Given the description of an element on the screen output the (x, y) to click on. 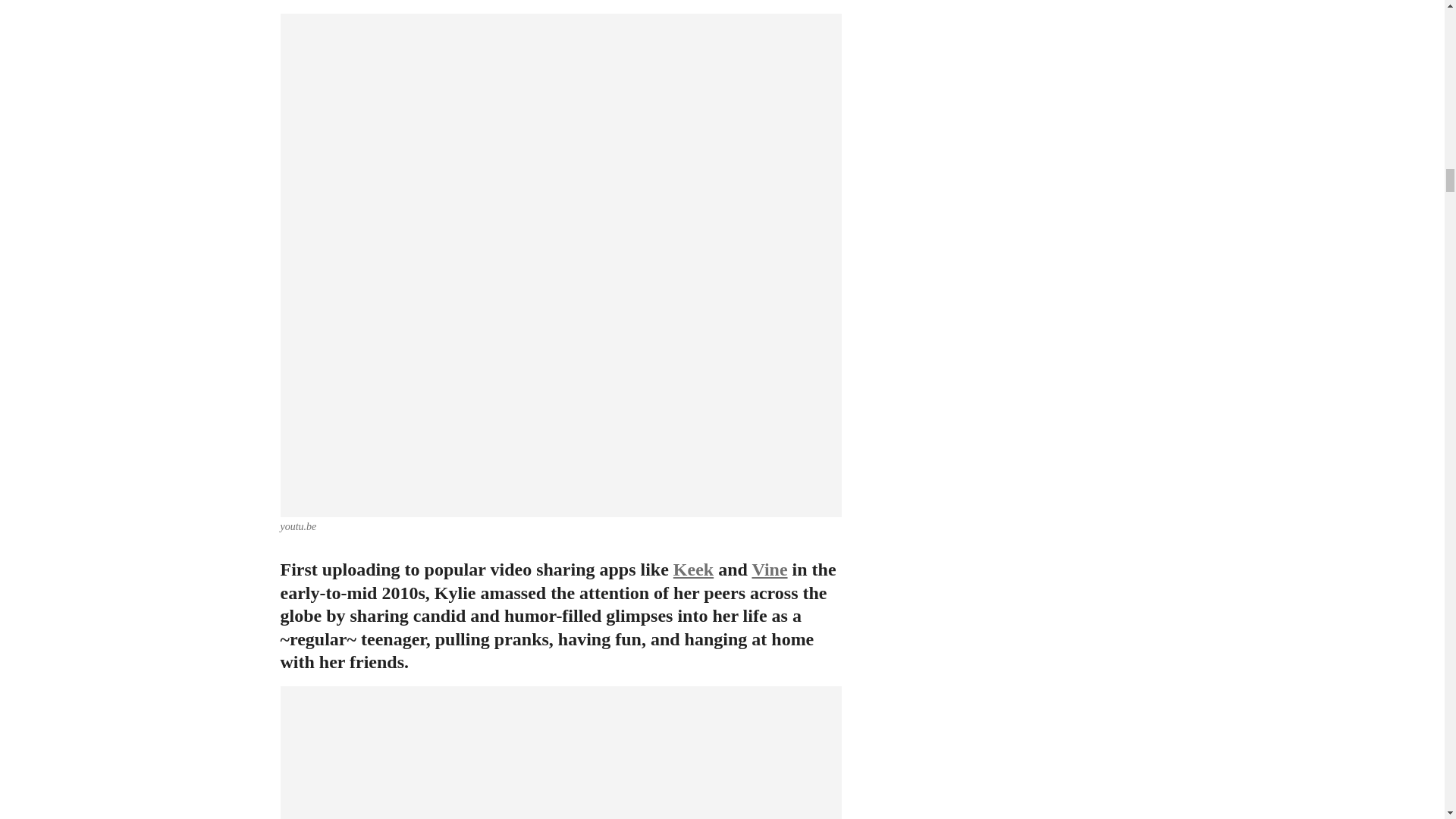
Vine (769, 569)
Keek (692, 569)
youtu.be (299, 526)
